Given the description of an element on the screen output the (x, y) to click on. 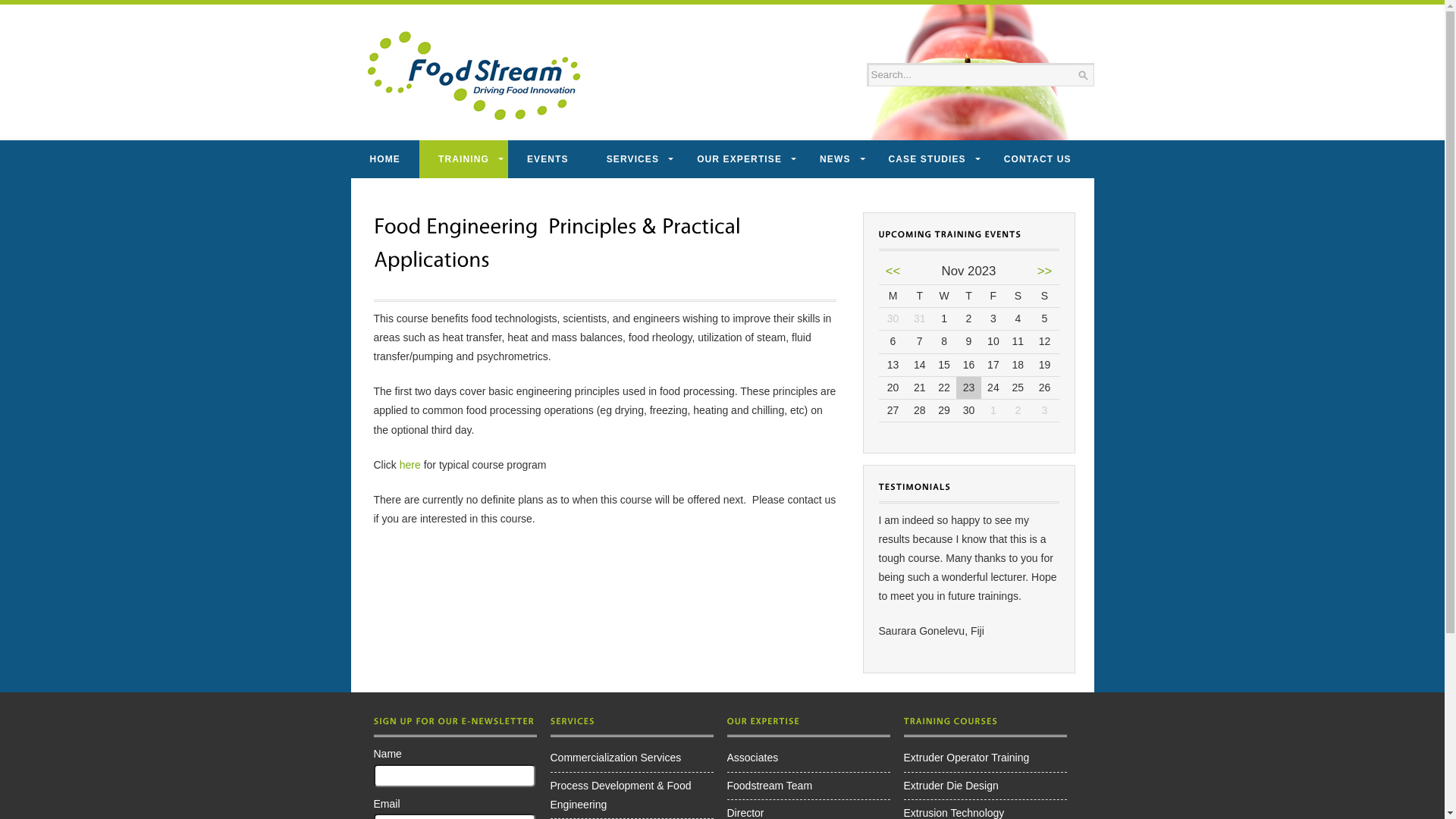
Extruder Operator Training Element type: text (966, 757)
TRAINING Element type: text (463, 159)
Foodstream Element type: hover (473, 76)
Process Development & Food Engineering Element type: text (620, 794)
Foodstream Team Element type: text (769, 785)
here Element type: text (409, 464)
CONTACT US Element type: text (1037, 159)
Search Element type: hover (970, 74)
Commercialization Services Element type: text (615, 757)
>> Element type: text (1044, 270)
EVENTS Element type: text (547, 159)
Extruder Die Design Element type: text (950, 785)
Associates Element type: text (752, 757)
OUR EXPERTISE Element type: text (738, 159)
<< Element type: text (892, 270)
HOME Element type: text (384, 159)
NEWS Element type: text (834, 159)
CASE STUDIES Element type: text (927, 159)
SERVICES Element type: text (632, 159)
